Given the description of an element on the screen output the (x, y) to click on. 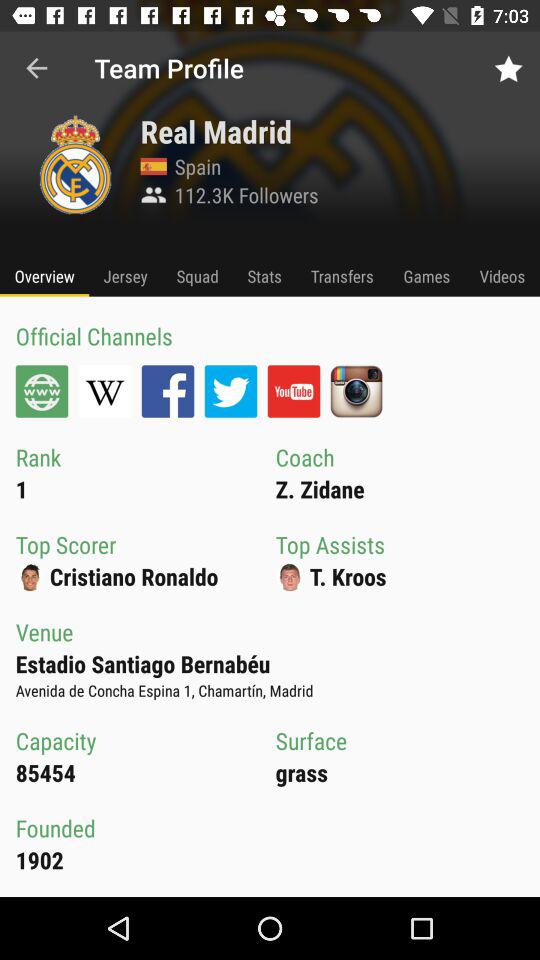
go to website (41, 391)
